Given the description of an element on the screen output the (x, y) to click on. 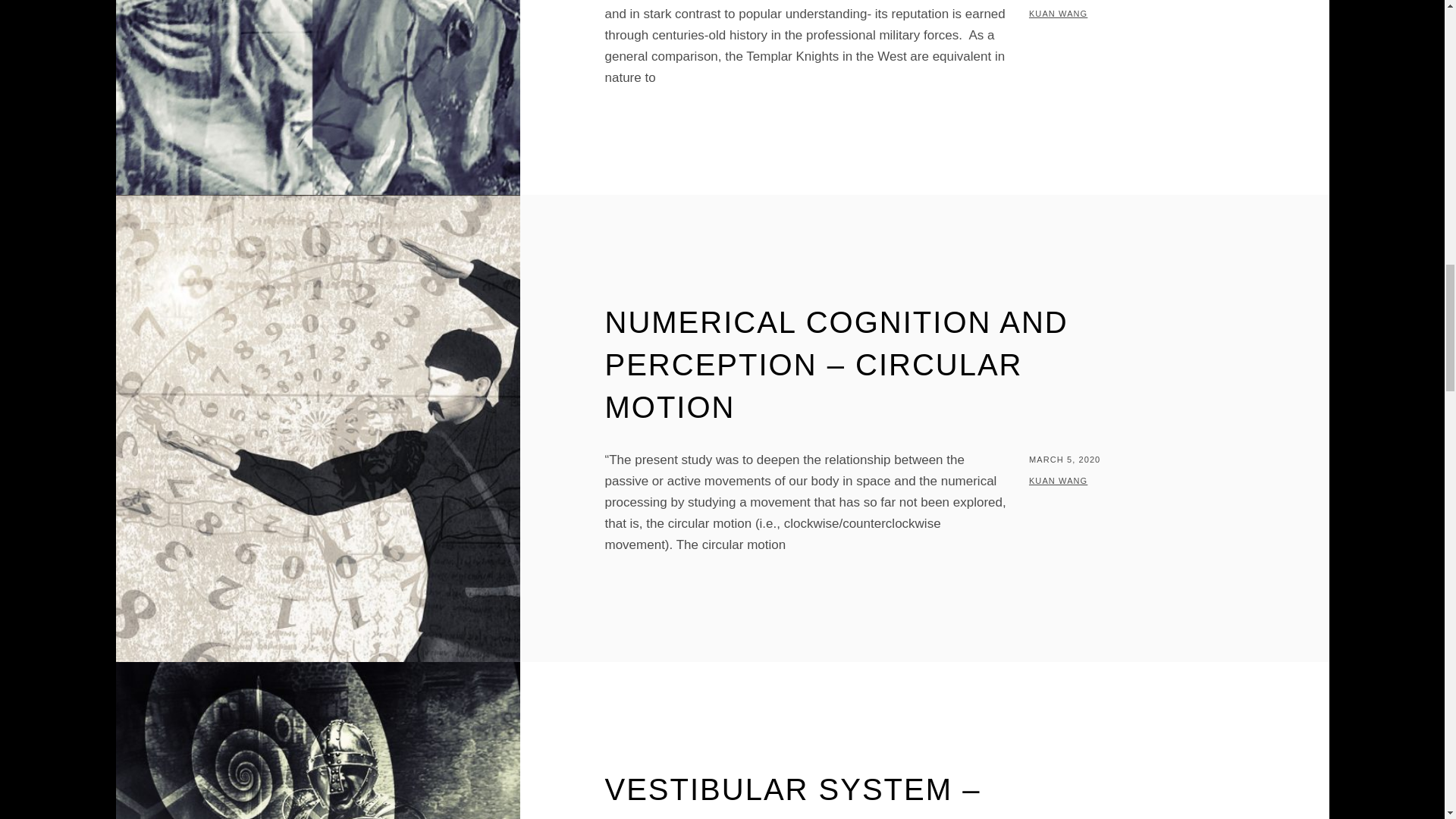
KUAN WANG (1058, 13)
KUAN WANG (1058, 480)
